Given the description of an element on the screen output the (x, y) to click on. 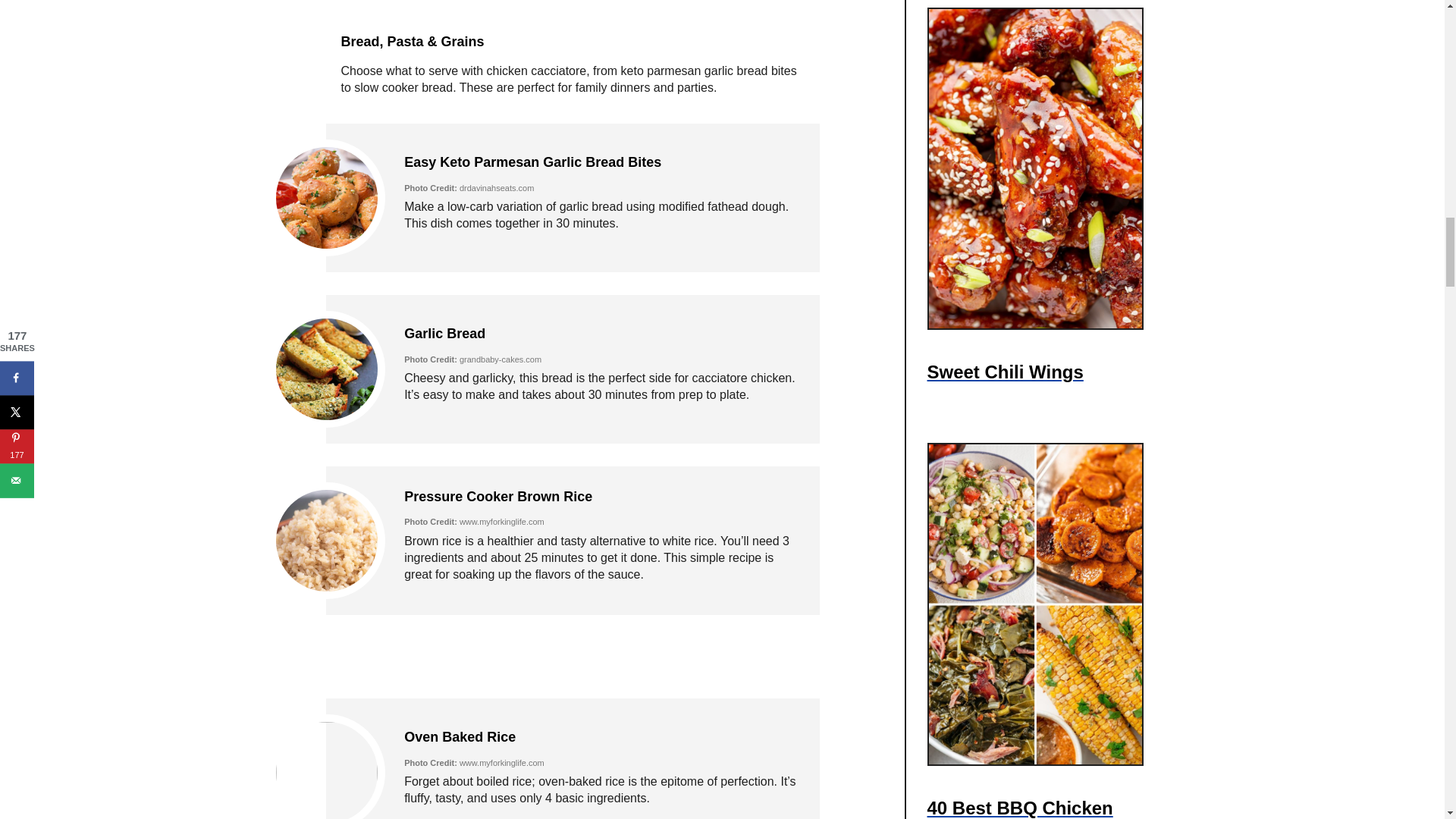
Garlic Bread (444, 333)
40 Best BBQ Chicken Sides (1040, 801)
Easy Keto Parmesan Garlic Bread Bites (532, 161)
Sweet Chili Wings (1004, 371)
